Given the description of an element on the screen output the (x, y) to click on. 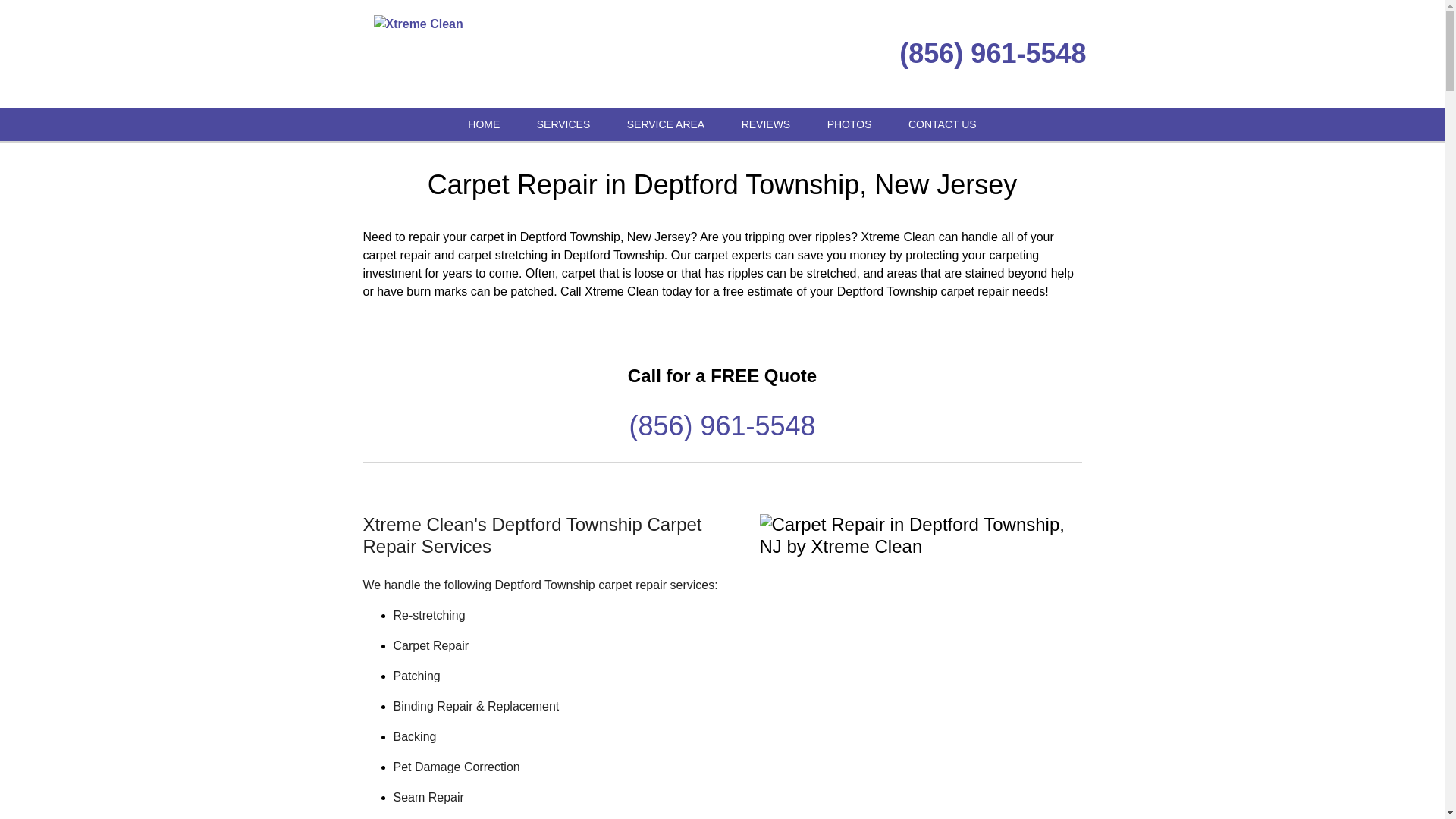
REVIEWS (766, 124)
HOME (483, 124)
SERVICES (563, 124)
SERVICE AREA (665, 124)
CONTACT US (941, 124)
PHOTOS (849, 124)
